Given the description of an element on the screen output the (x, y) to click on. 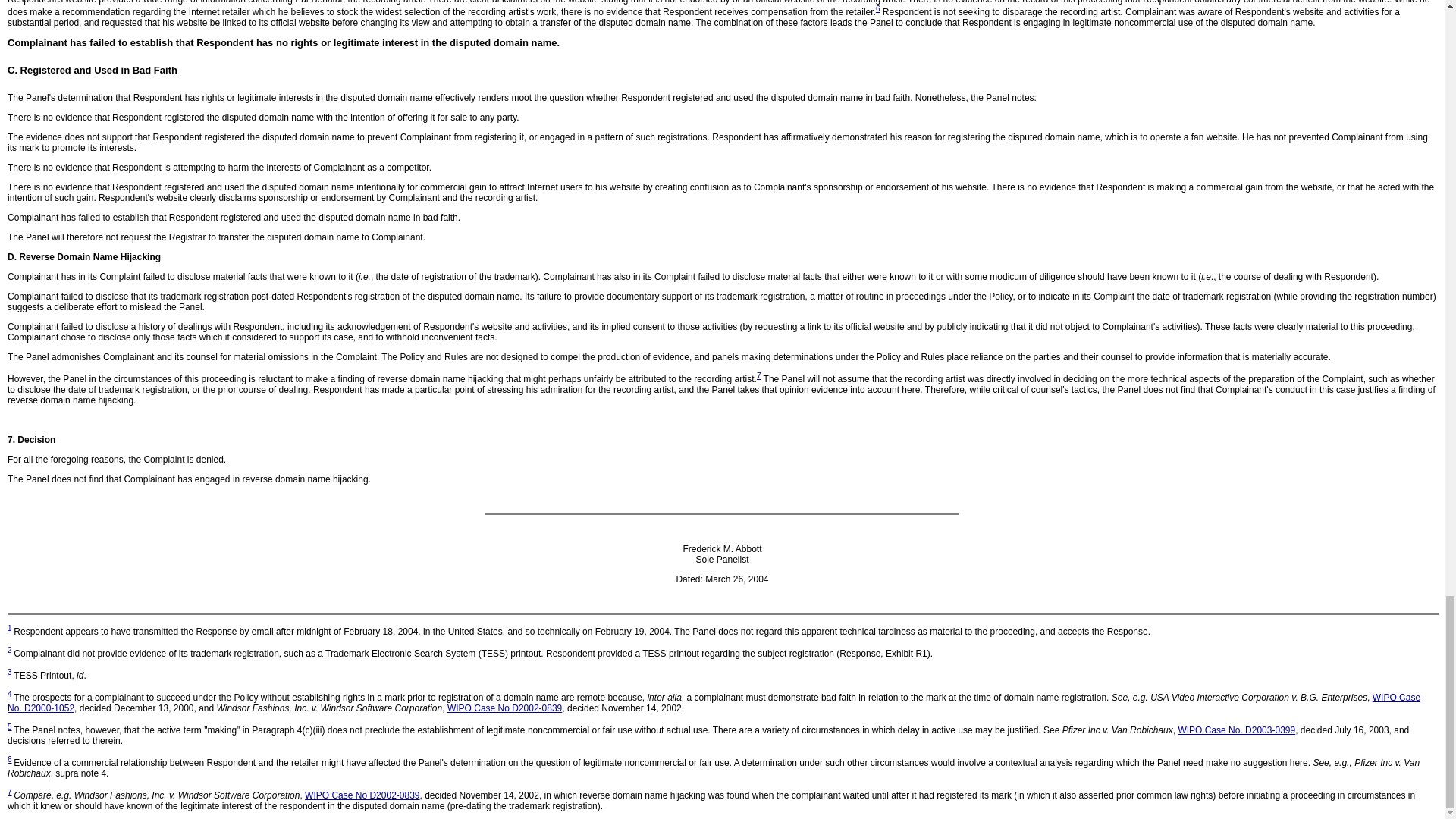
WIPO Case No. D2000-1052 (714, 702)
WIPO Case No D2002-0839 (361, 795)
WIPO Case No. D2003-0399 (1236, 729)
WIPO Case No D2002-0839 (504, 707)
